Given the description of an element on the screen output the (x, y) to click on. 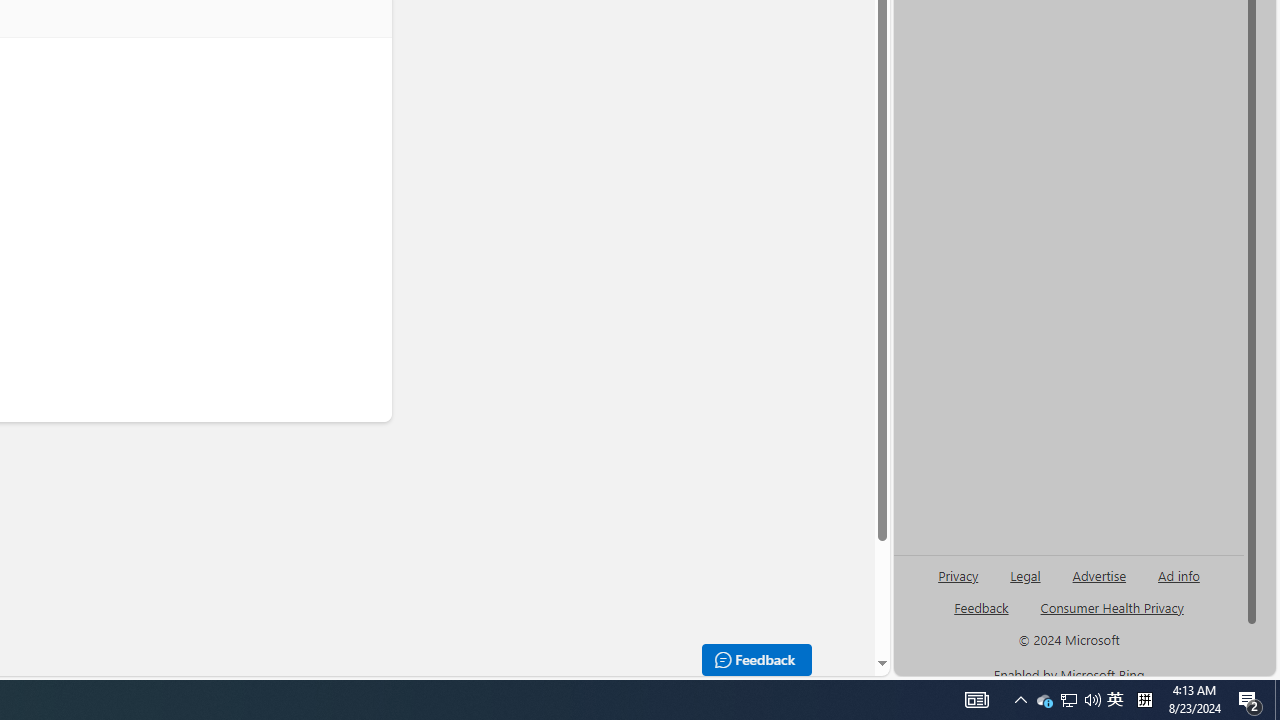
AutomationID: genId96 (981, 615)
AutomationID: sb_feedback (980, 607)
